Given the description of an element on the screen output the (x, y) to click on. 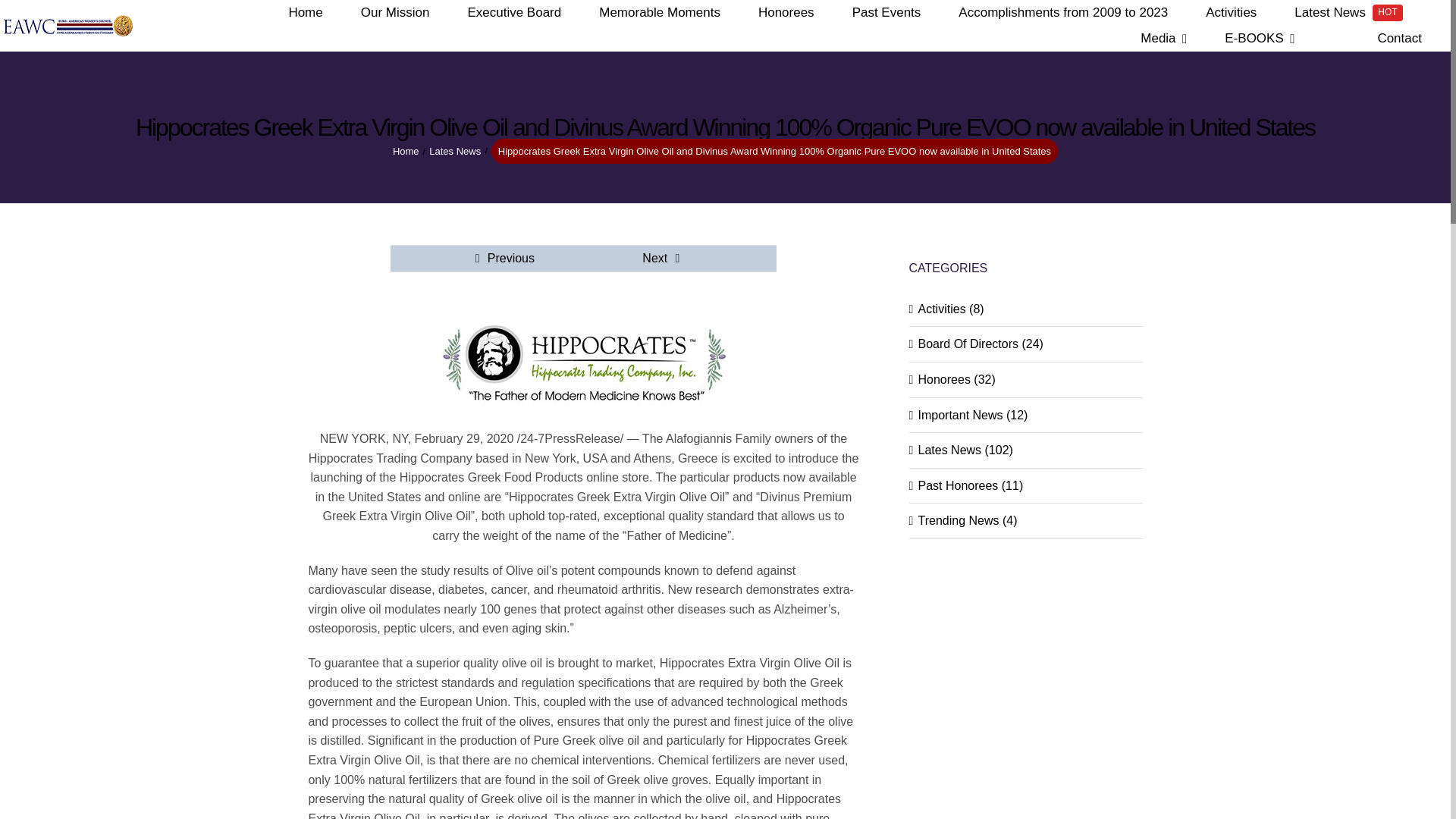
Contact (1399, 38)
E-BOOKS (1259, 38)
Accomplishments from 2009 to 2023 (1062, 12)
Next (654, 258)
Past Events (886, 12)
hippocrates (583, 365)
Executive Board (513, 12)
Lates News (454, 151)
Home (304, 12)
Memorable Moments (659, 12)
Previous (510, 258)
Honorees (1348, 12)
Home (785, 12)
Our Mission (406, 151)
